Given the description of an element on the screen output the (x, y) to click on. 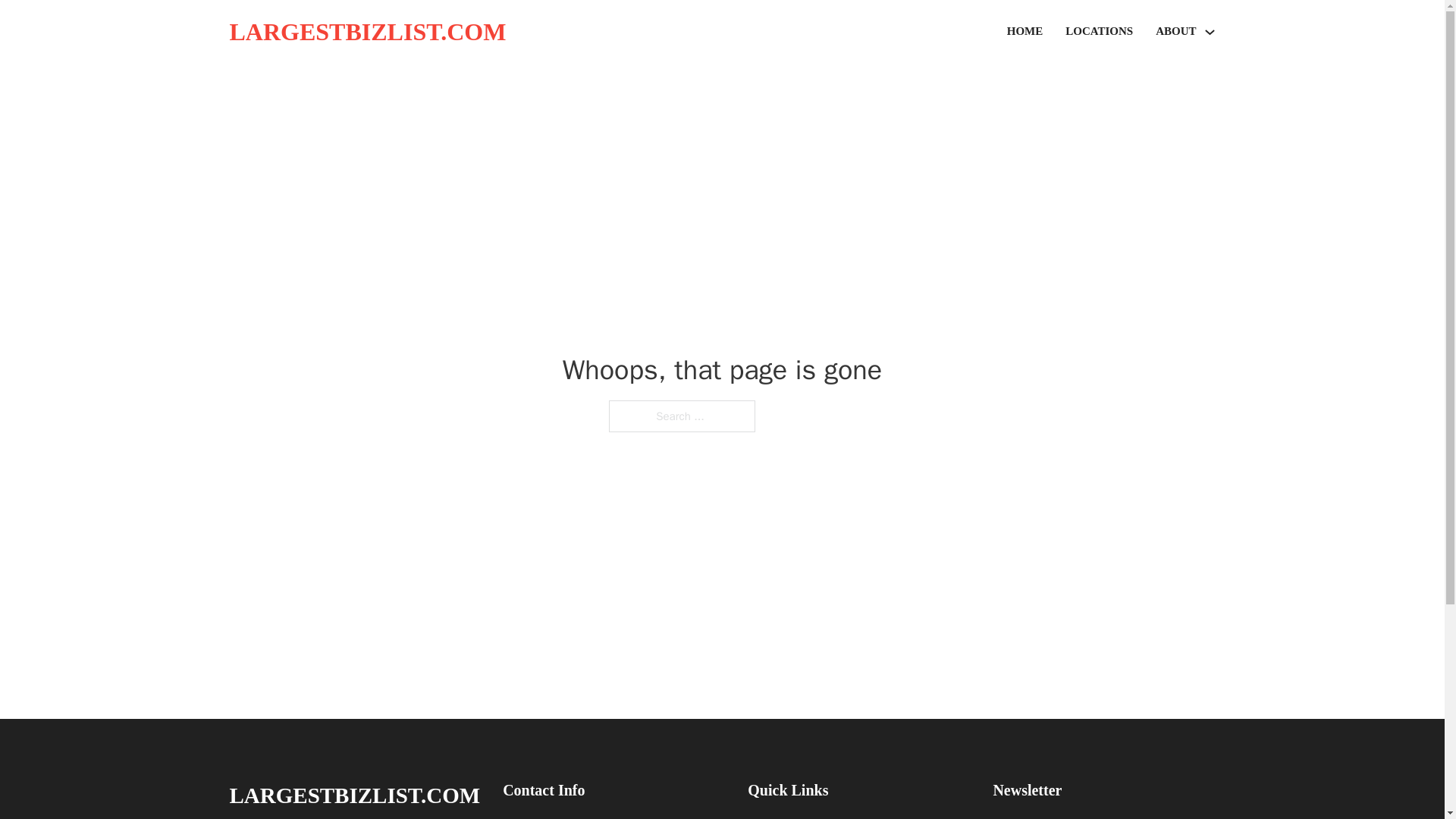
LOCATIONS (1098, 31)
LARGESTBIZLIST.COM (354, 795)
HOME (1025, 31)
LARGESTBIZLIST.COM (366, 31)
